Given the description of an element on the screen output the (x, y) to click on. 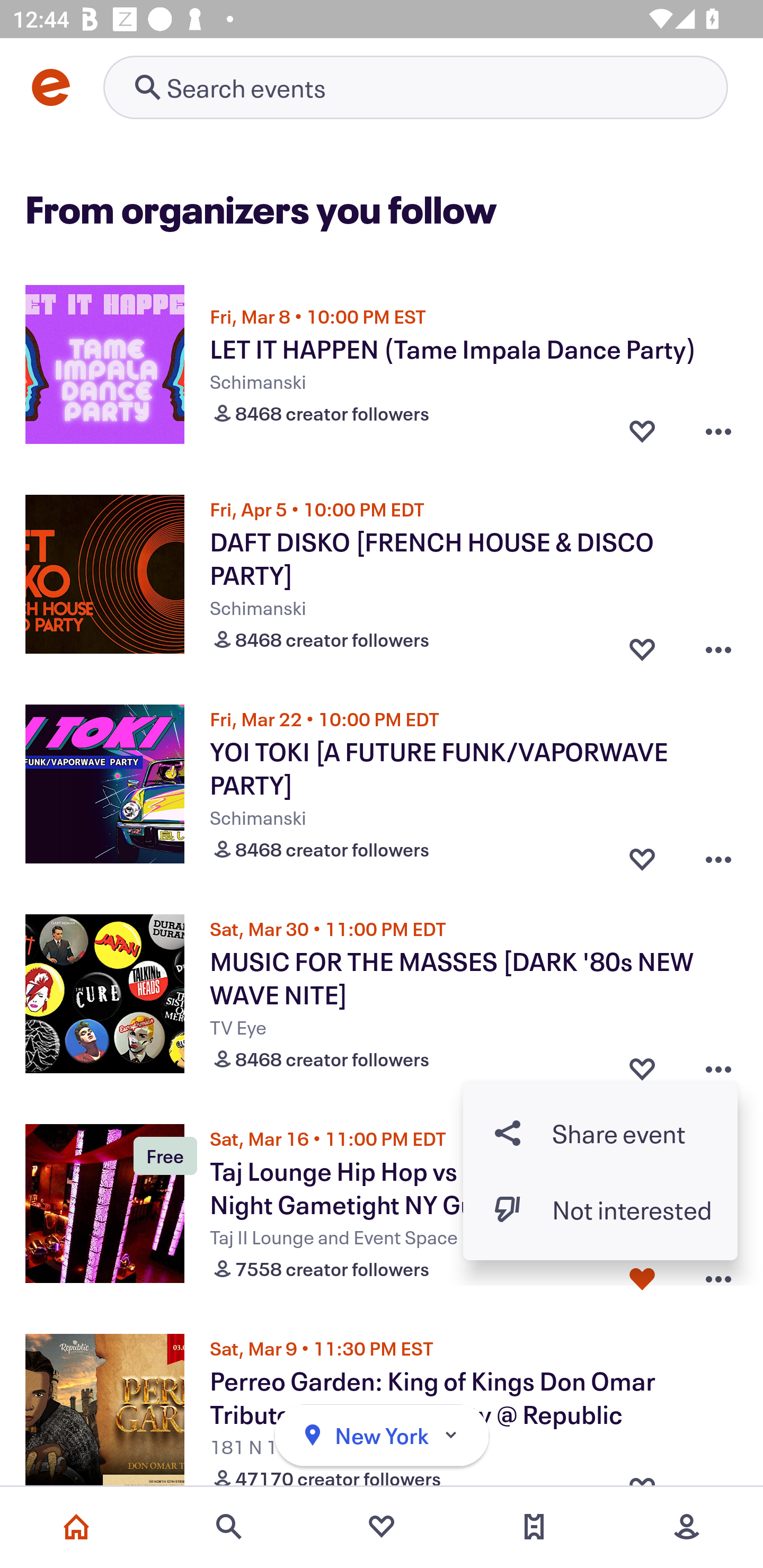
Share button Share event (600, 1132)
Dislike event button Not interested (600, 1209)
